Given the description of an element on the screen output the (x, y) to click on. 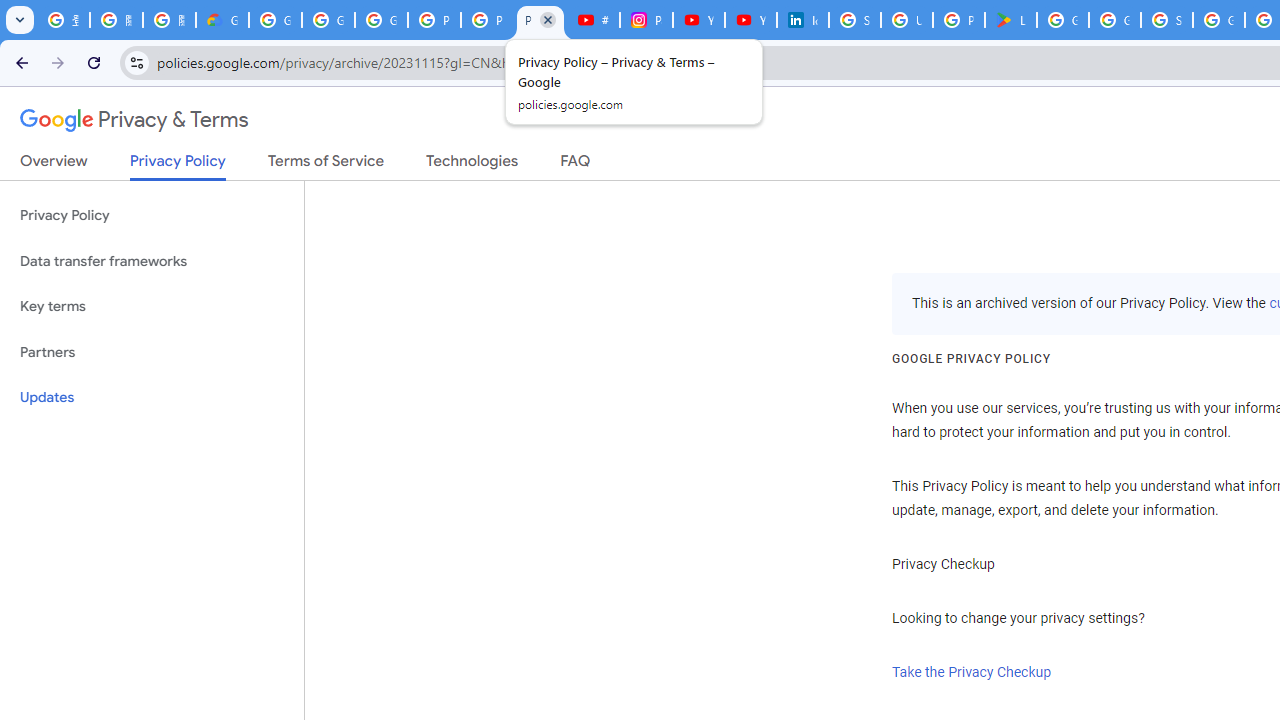
Sign in - Google Accounts (854, 20)
YouTube Culture & Trends - YouTube Top 10, 2021 (750, 20)
YouTube Culture & Trends - On The Rise: Handcam Videos (698, 20)
Sign in - Google Accounts (1166, 20)
Take the Privacy Checkup (972, 672)
